Given the description of an element on the screen output the (x, y) to click on. 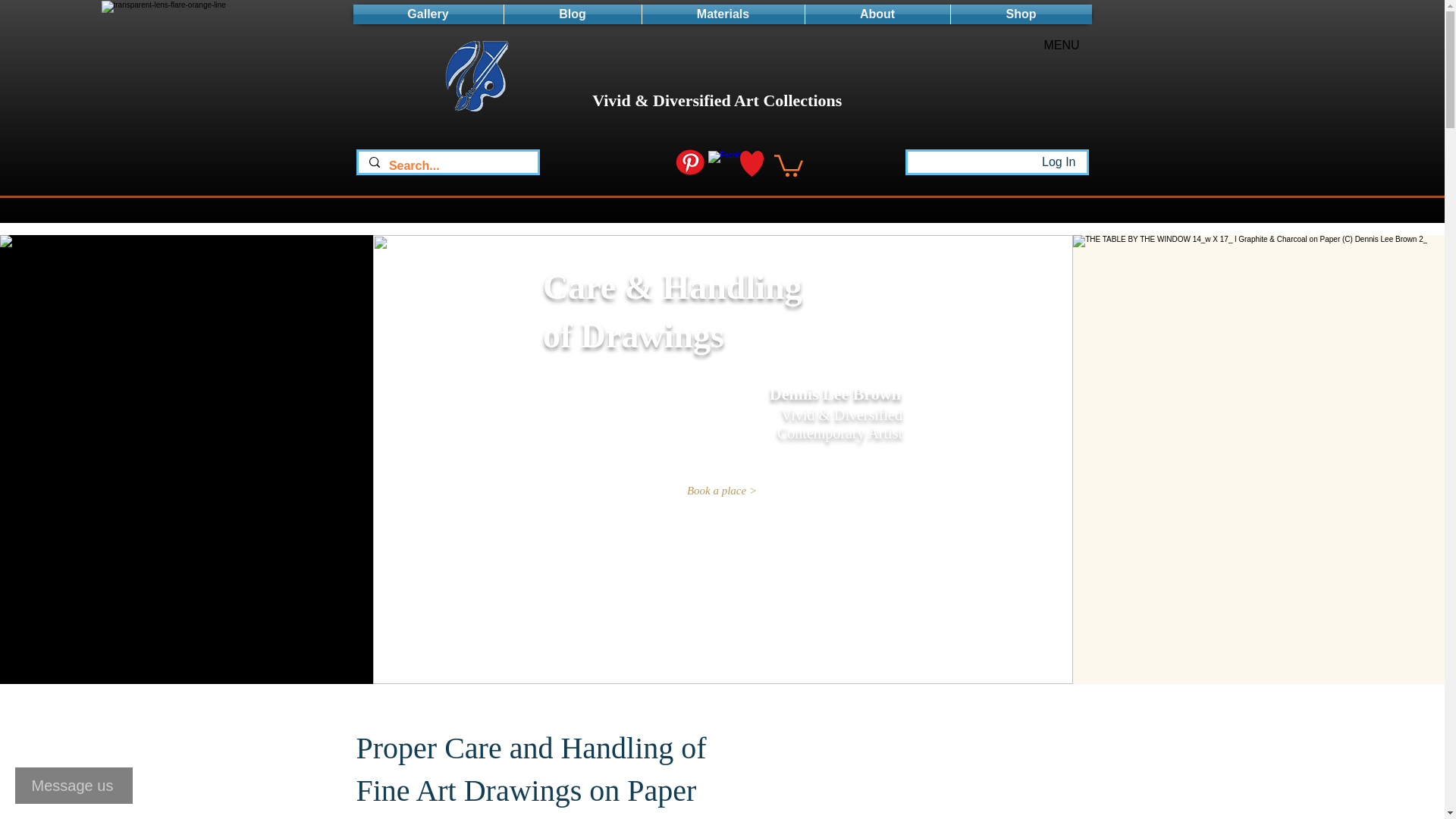
About (877, 14)
Log In (1058, 162)
Materials (722, 14)
Message us (73, 785)
Pinterest- Denni Lee Brown Art Gallry (689, 162)
Gallery (428, 14)
Blog (571, 14)
Shop (1021, 14)
